Given the description of an element on the screen output the (x, y) to click on. 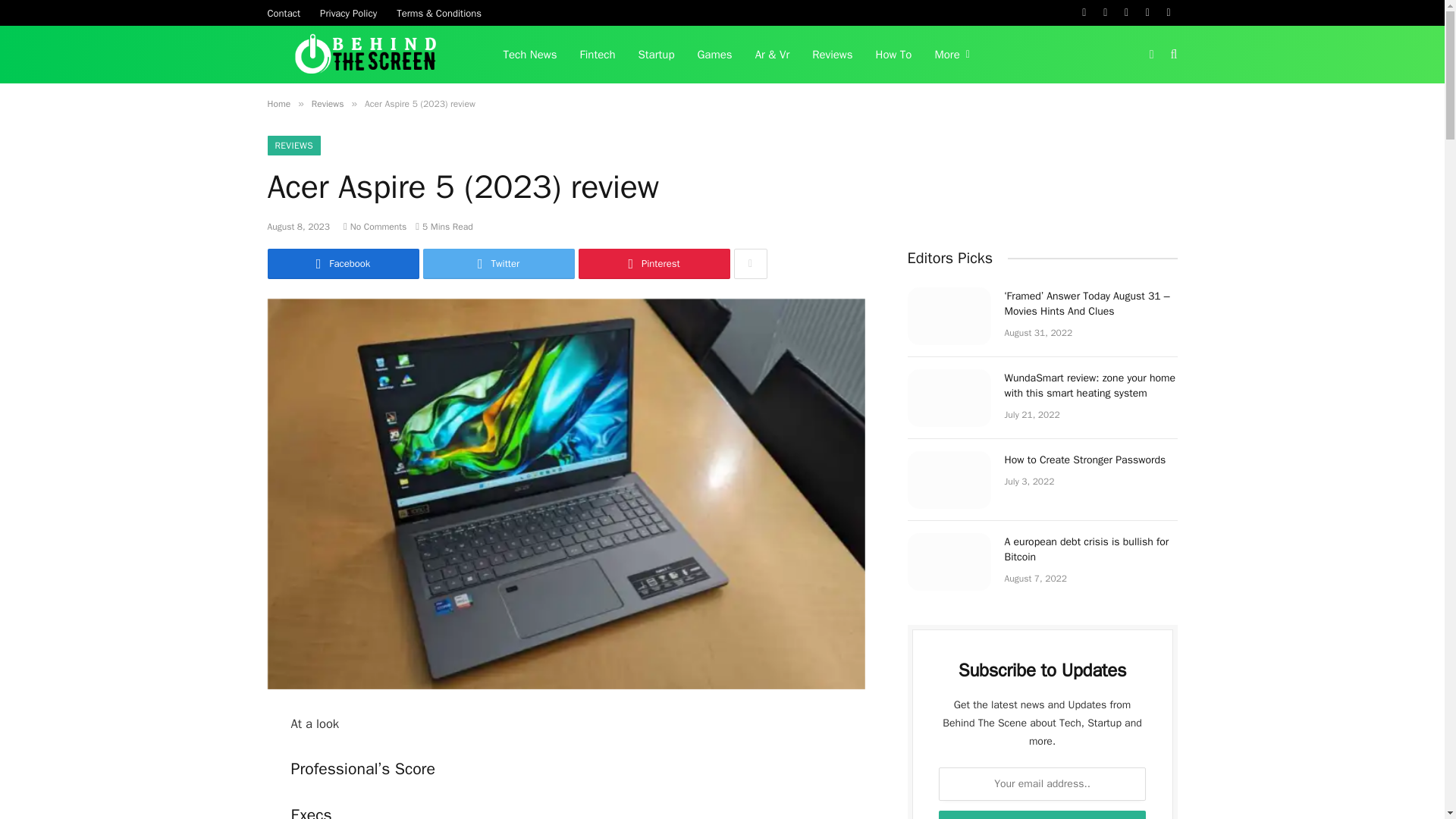
Reviews (831, 54)
More (951, 54)
Tech News (529, 54)
Startup (656, 54)
Share on Facebook (342, 263)
Subscribe (1043, 814)
Switch to Dark Design - easier on eyes. (1151, 54)
Fintech (598, 54)
Contact (284, 12)
Share on Twitter (499, 263)
